Given the description of an element on the screen output the (x, y) to click on. 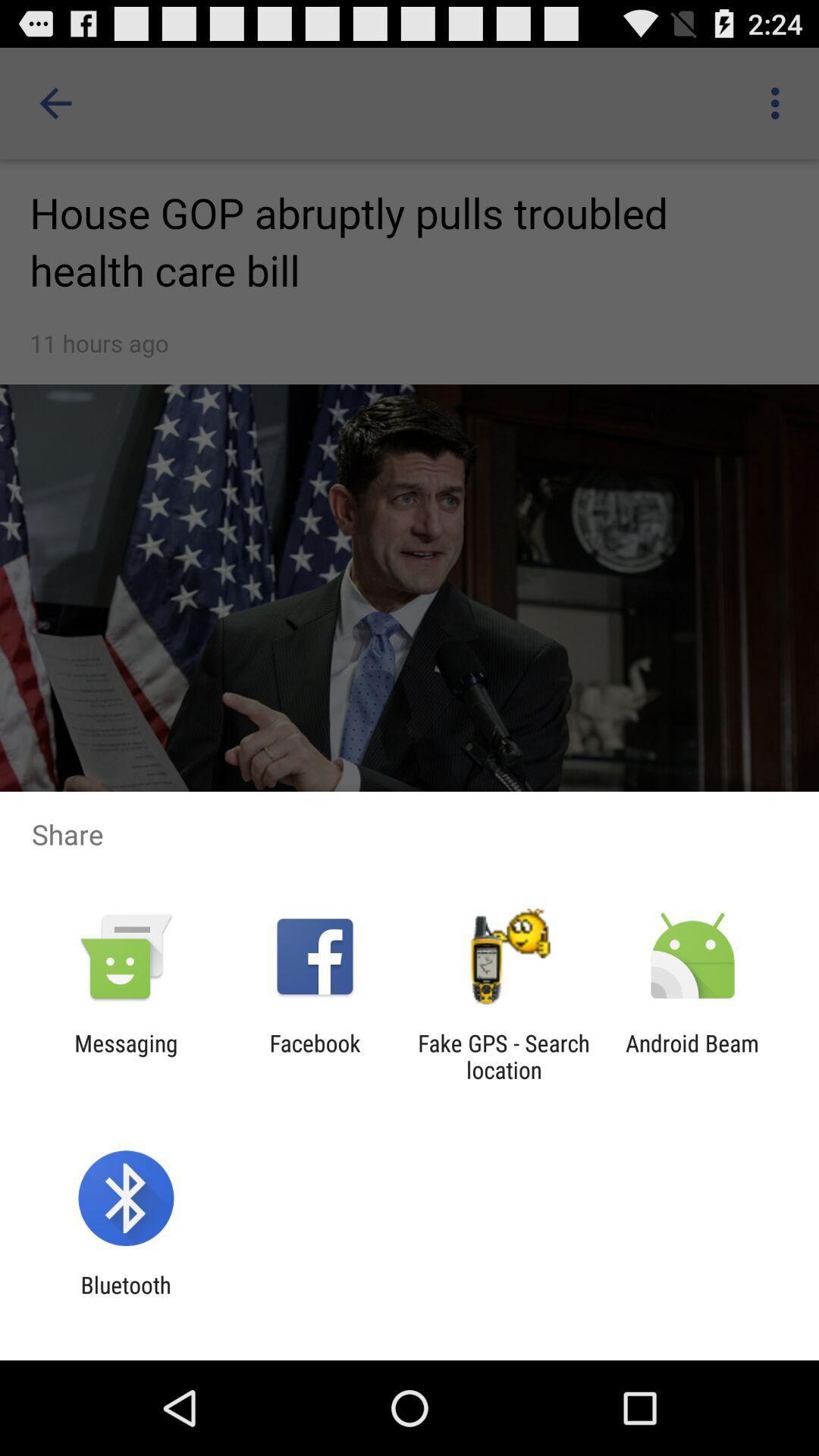
tap android beam item (692, 1056)
